Given the description of an element on the screen output the (x, y) to click on. 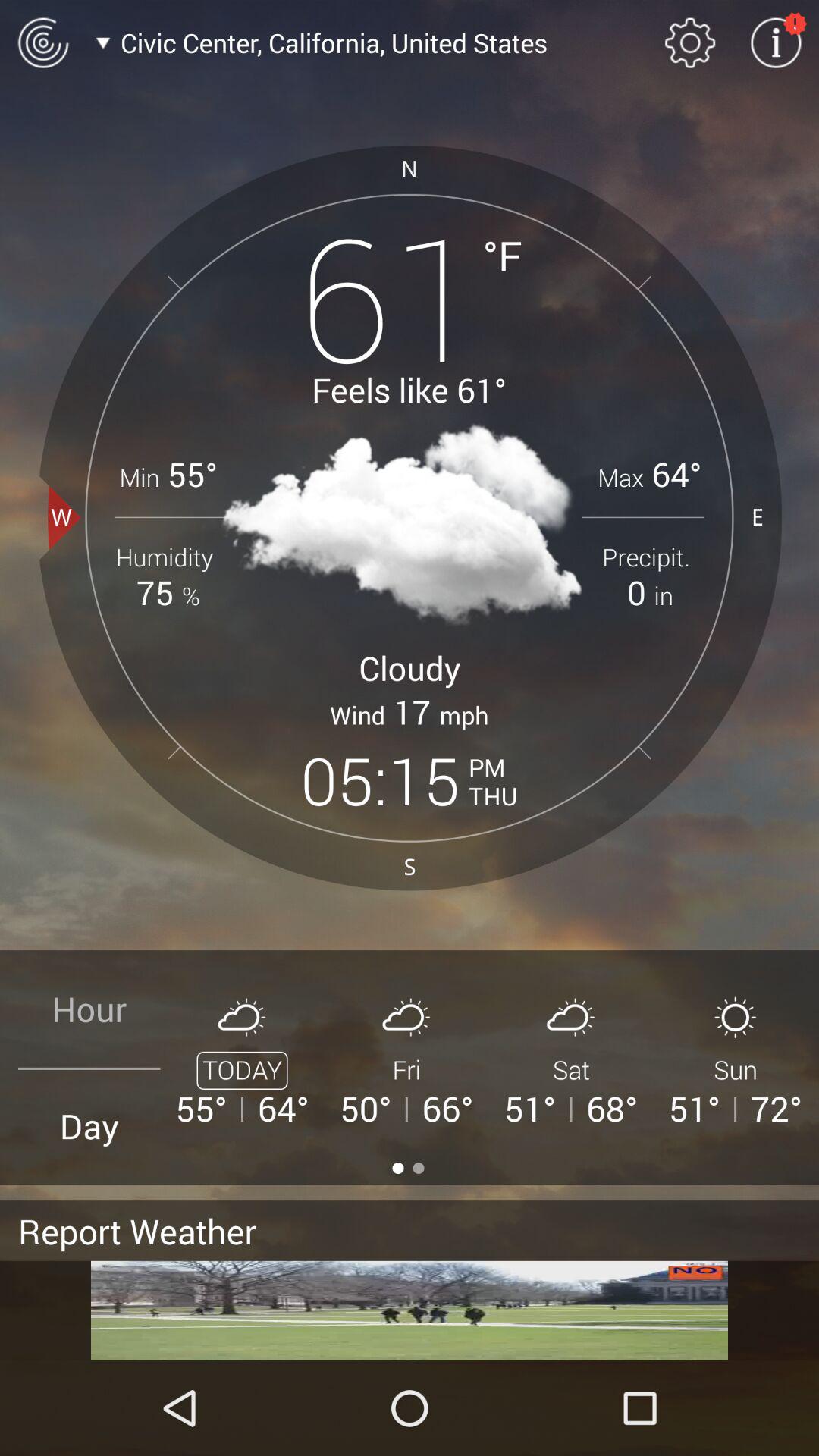
go to settings (690, 42)
